Given the description of an element on the screen output the (x, y) to click on. 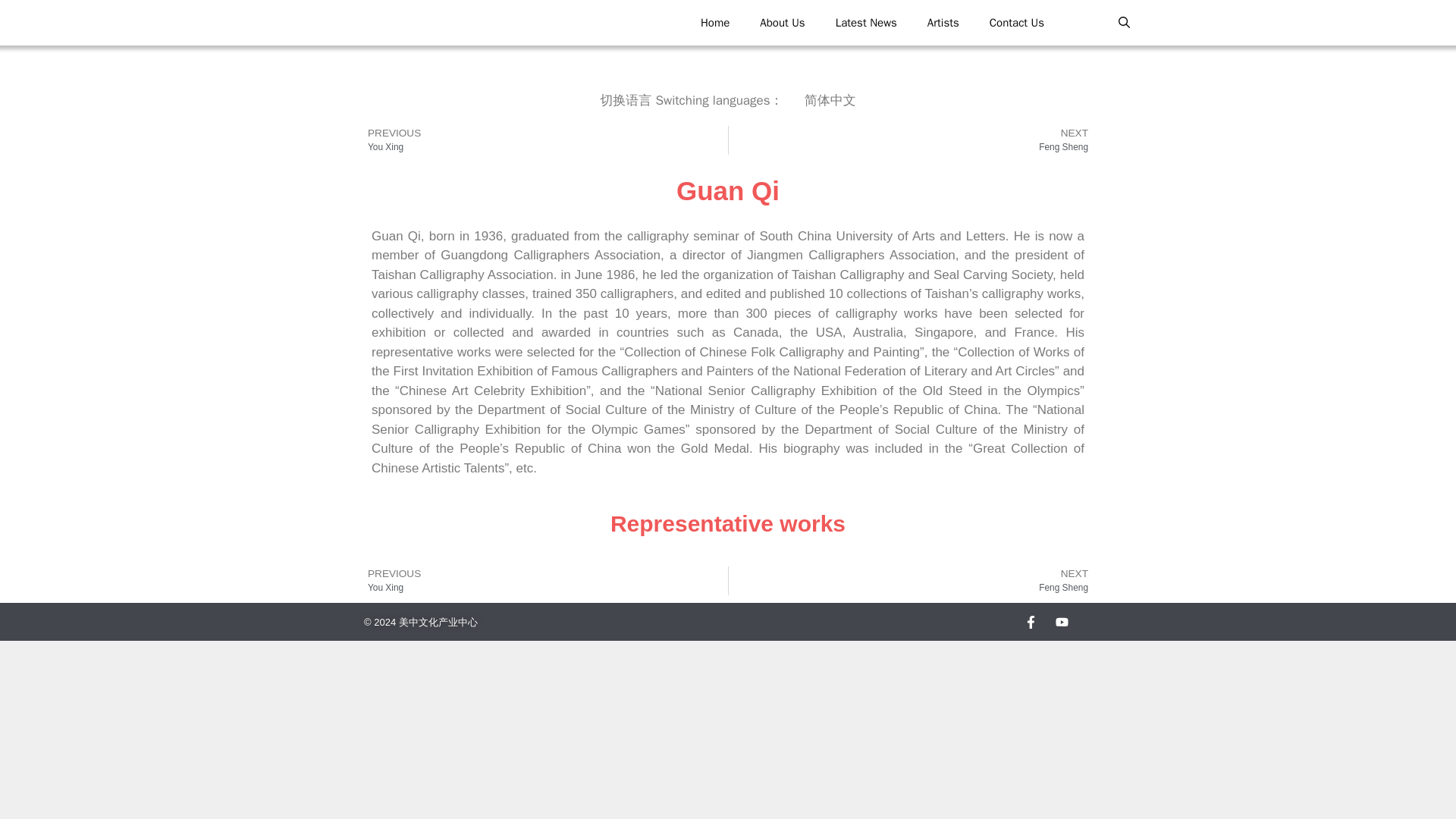
Home (714, 22)
Latest News (866, 22)
About Us (781, 22)
Artists (943, 22)
Contact Us (913, 140)
